Given the description of an element on the screen output the (x, y) to click on. 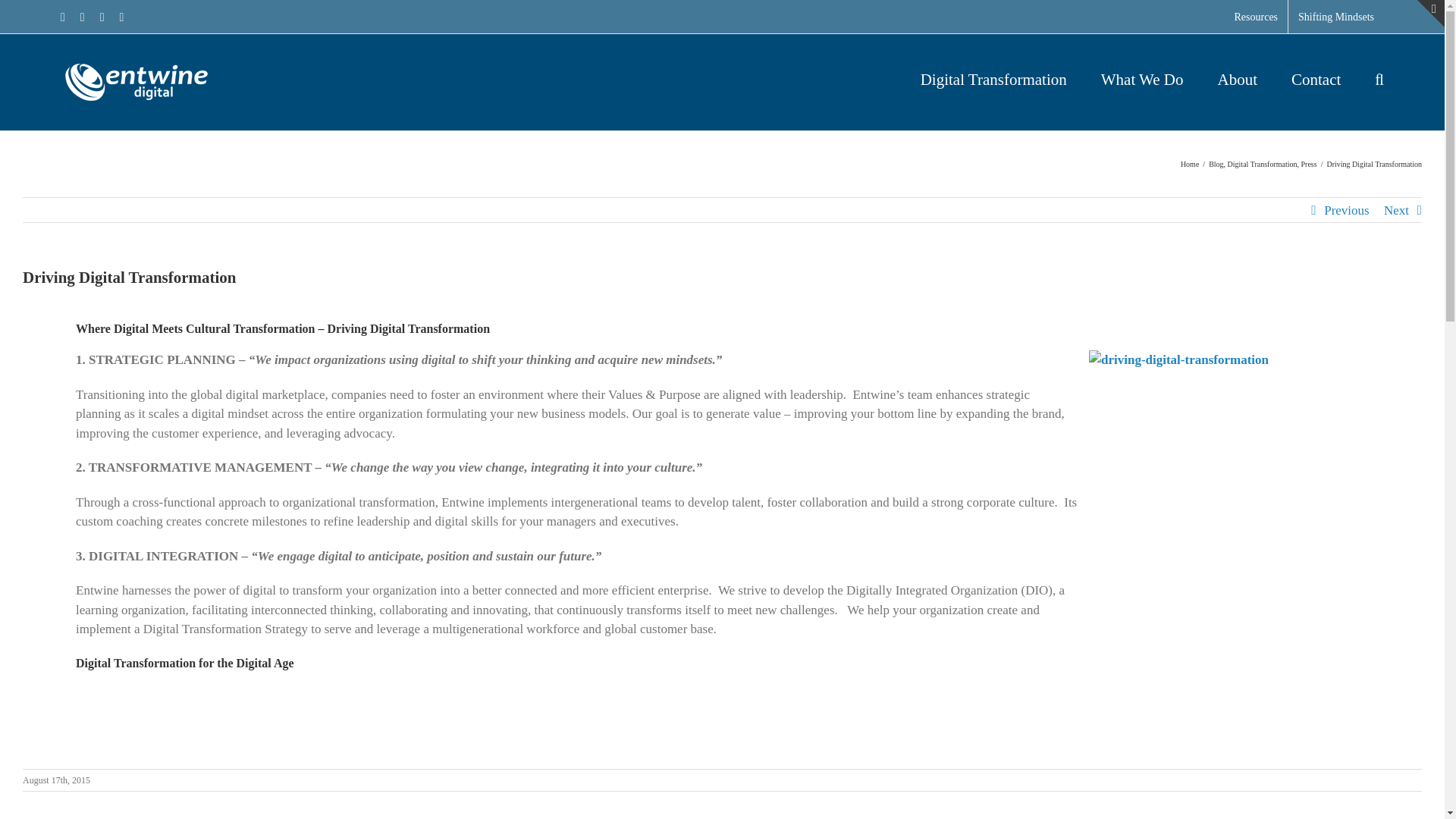
Blog (1215, 163)
Home (1189, 163)
Resources (1255, 16)
Previous (1346, 210)
Digital Transformation (1262, 163)
Shifting Mindsets (1336, 16)
What We Do (1141, 77)
Press (1309, 163)
Next (1396, 210)
Digital Transformation (993, 77)
